Given the description of an element on the screen output the (x, y) to click on. 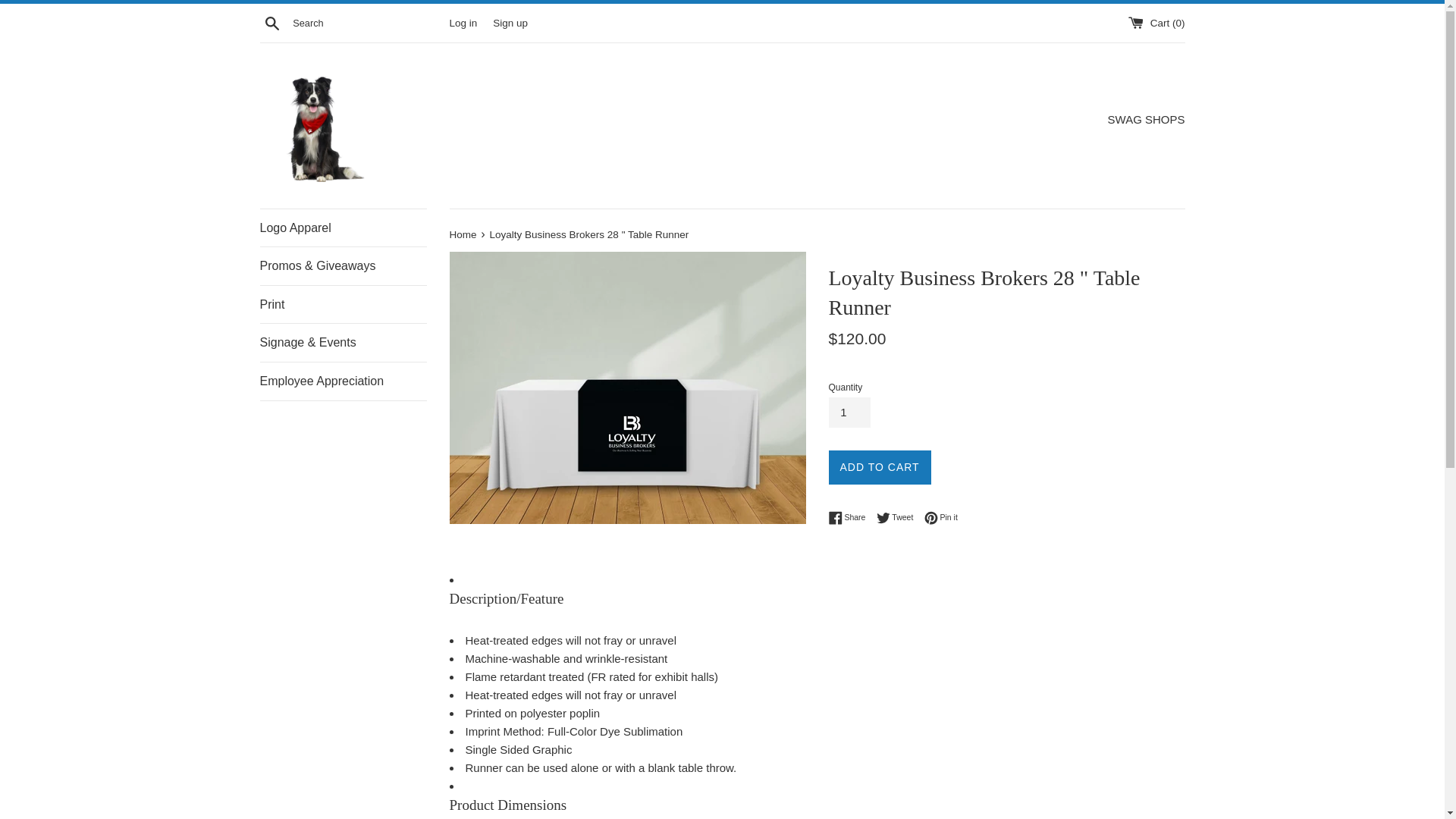
Share on Facebook (898, 517)
Sign up (850, 517)
Home (510, 21)
Back to the frontpage (463, 234)
Tweet on Twitter (463, 234)
ADD TO CART (898, 517)
Log in (879, 467)
Logo Apparel (462, 21)
Employee Appreciation (342, 228)
1 (342, 381)
Print (848, 412)
Pin on Pinterest (850, 517)
